Given the description of an element on the screen output the (x, y) to click on. 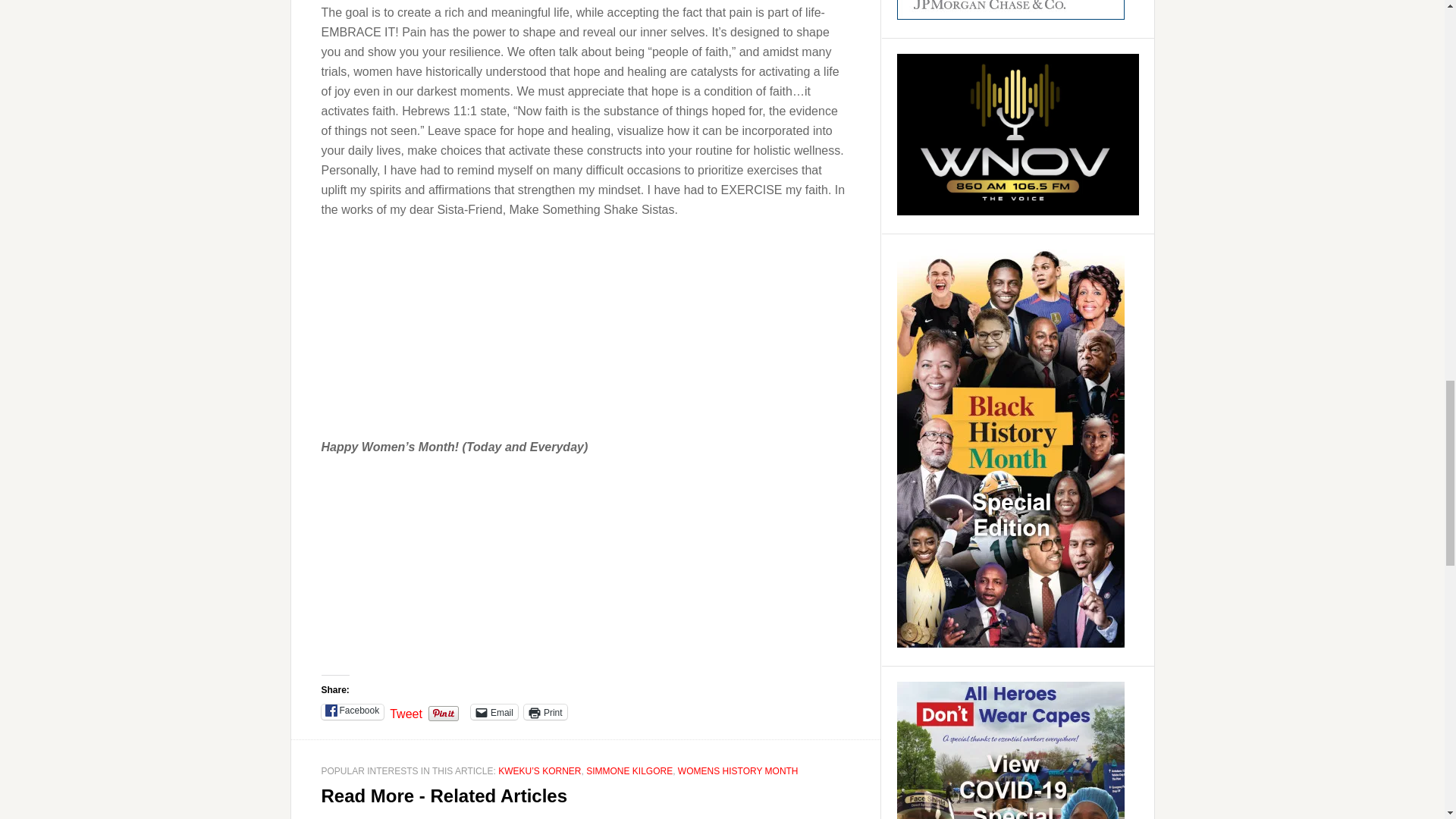
Facebook (352, 711)
Click to email a link to a friend (494, 711)
WOMENS HISTORY MONTH (737, 770)
Print (545, 711)
Tweet (406, 711)
SIMMONE KILGORE (629, 770)
Click to print (545, 711)
Click to share on Facebook (352, 711)
Email (494, 711)
